Given the description of an element on the screen output the (x, y) to click on. 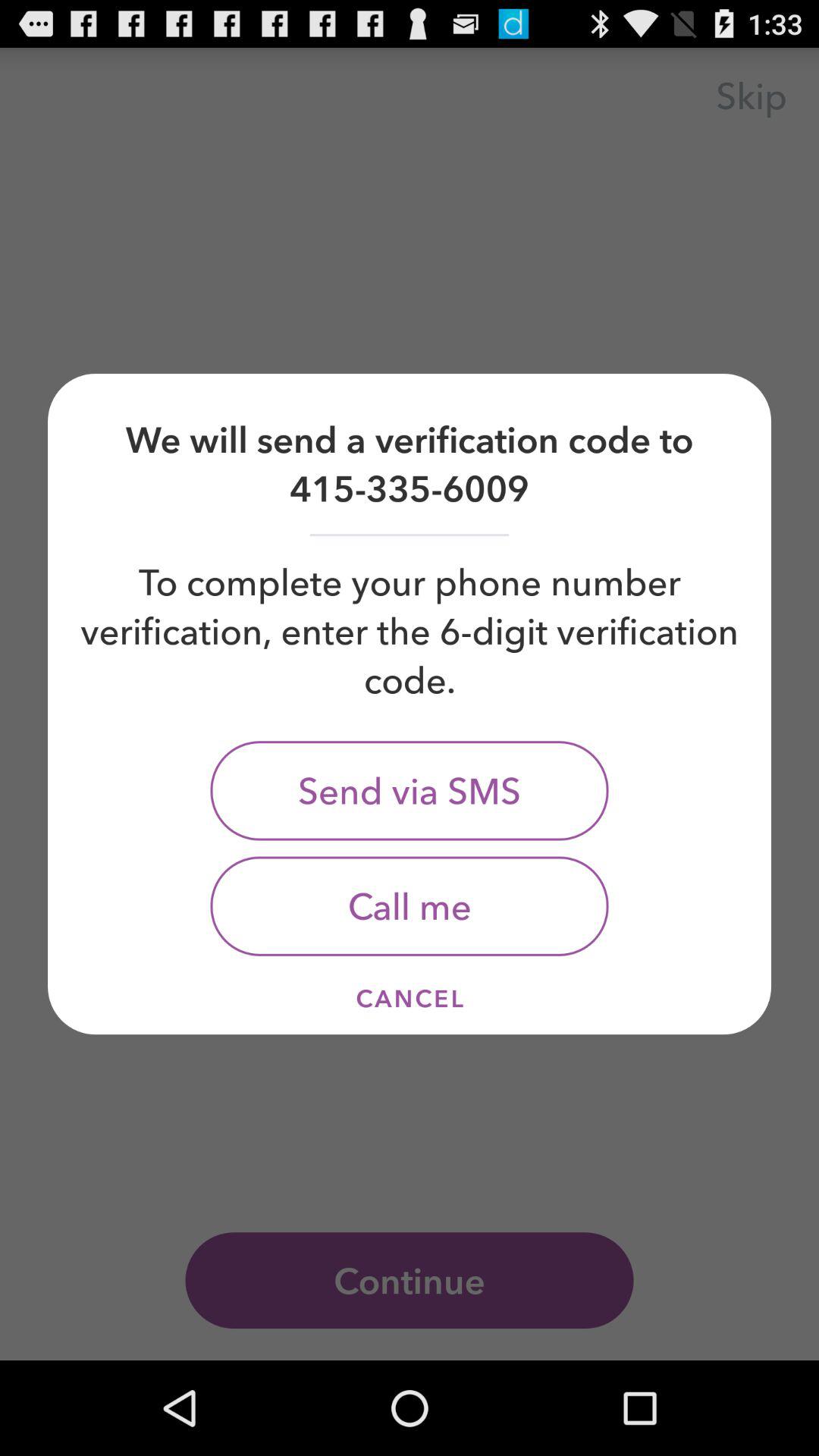
turn off the send via sms item (409, 790)
